Given the description of an element on the screen output the (x, y) to click on. 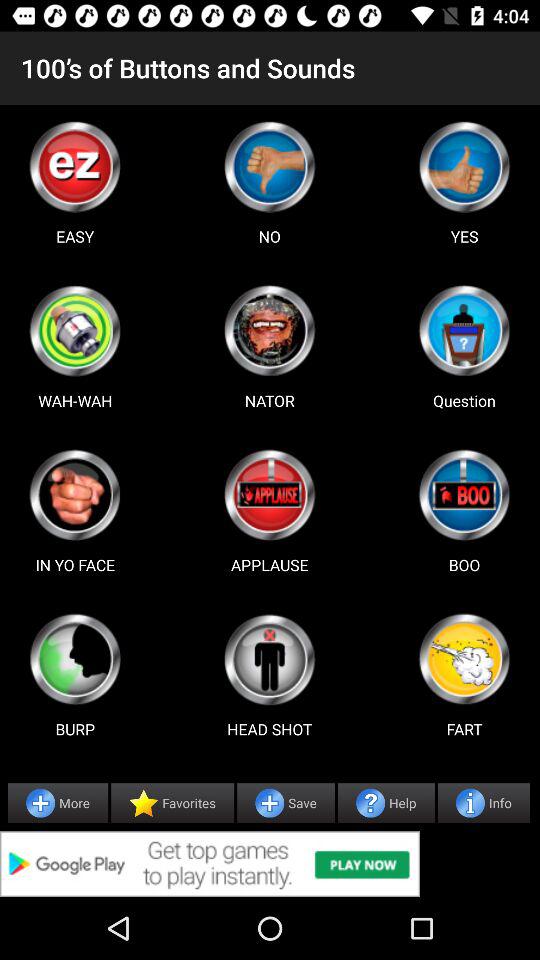
use question button (464, 330)
